Given the description of an element on the screen output the (x, y) to click on. 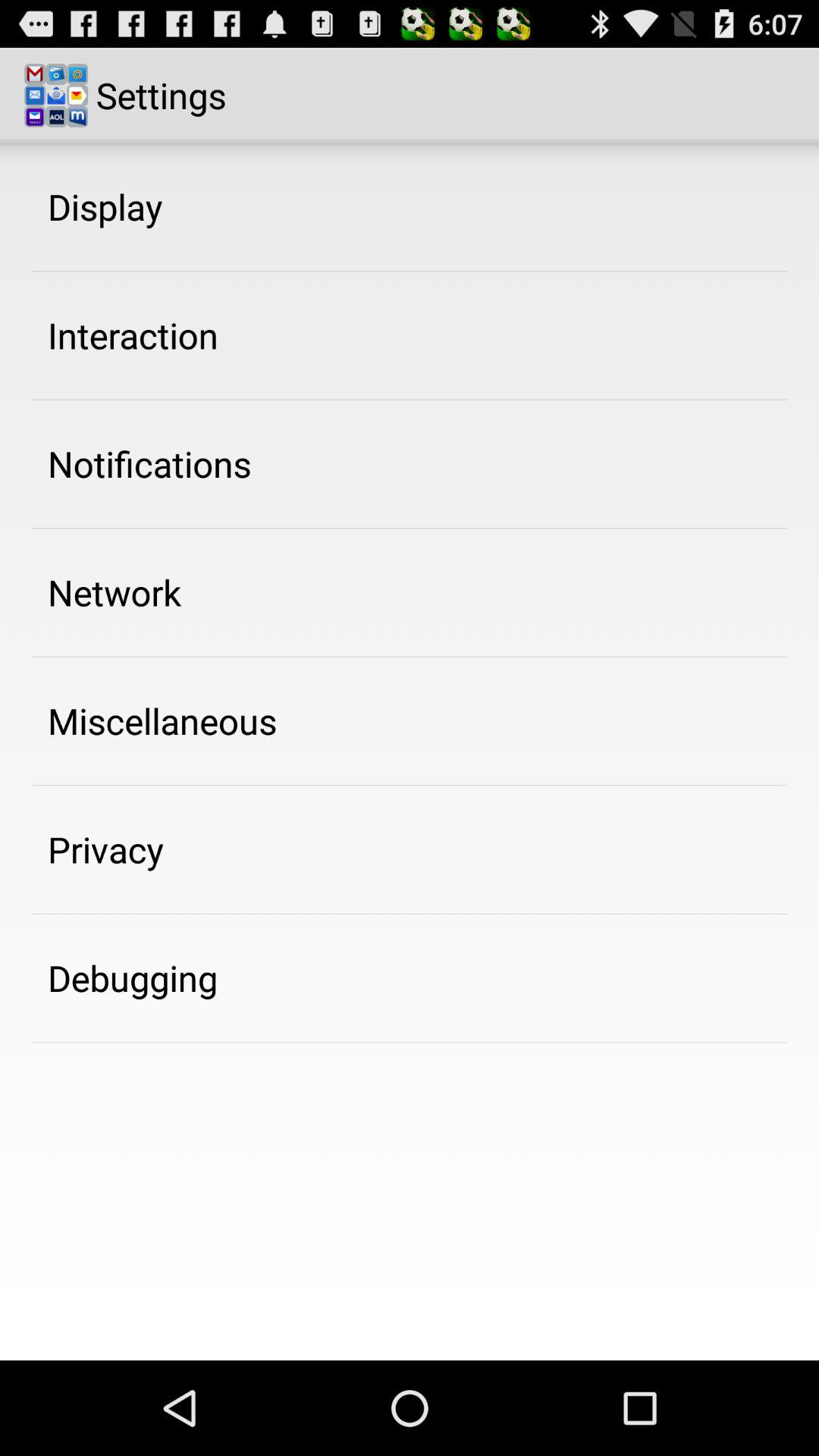
turn on the app below the privacy icon (132, 977)
